Given the description of an element on the screen output the (x, y) to click on. 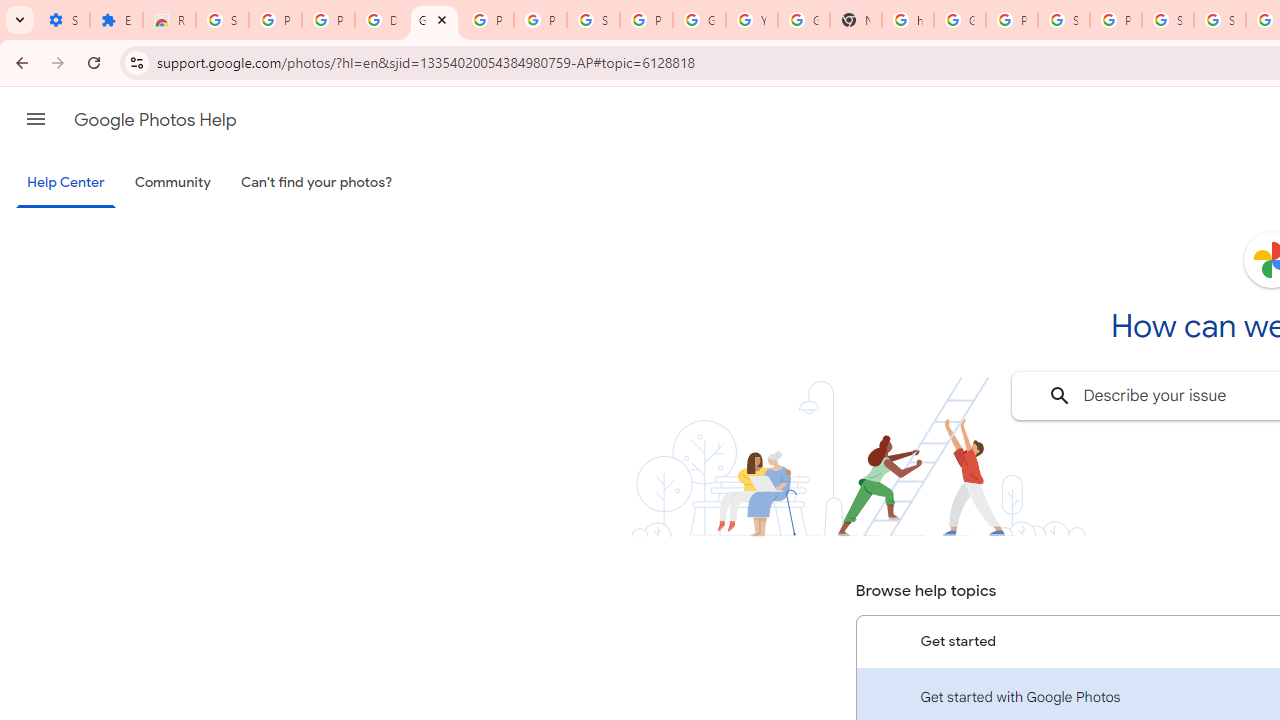
Settings - On startup (63, 20)
Sign in - Google Accounts (1219, 20)
Reviews: Helix Fruit Jump Arcade Game (169, 20)
New Tab (855, 20)
Help Center (65, 183)
